Given the description of an element on the screen output the (x, y) to click on. 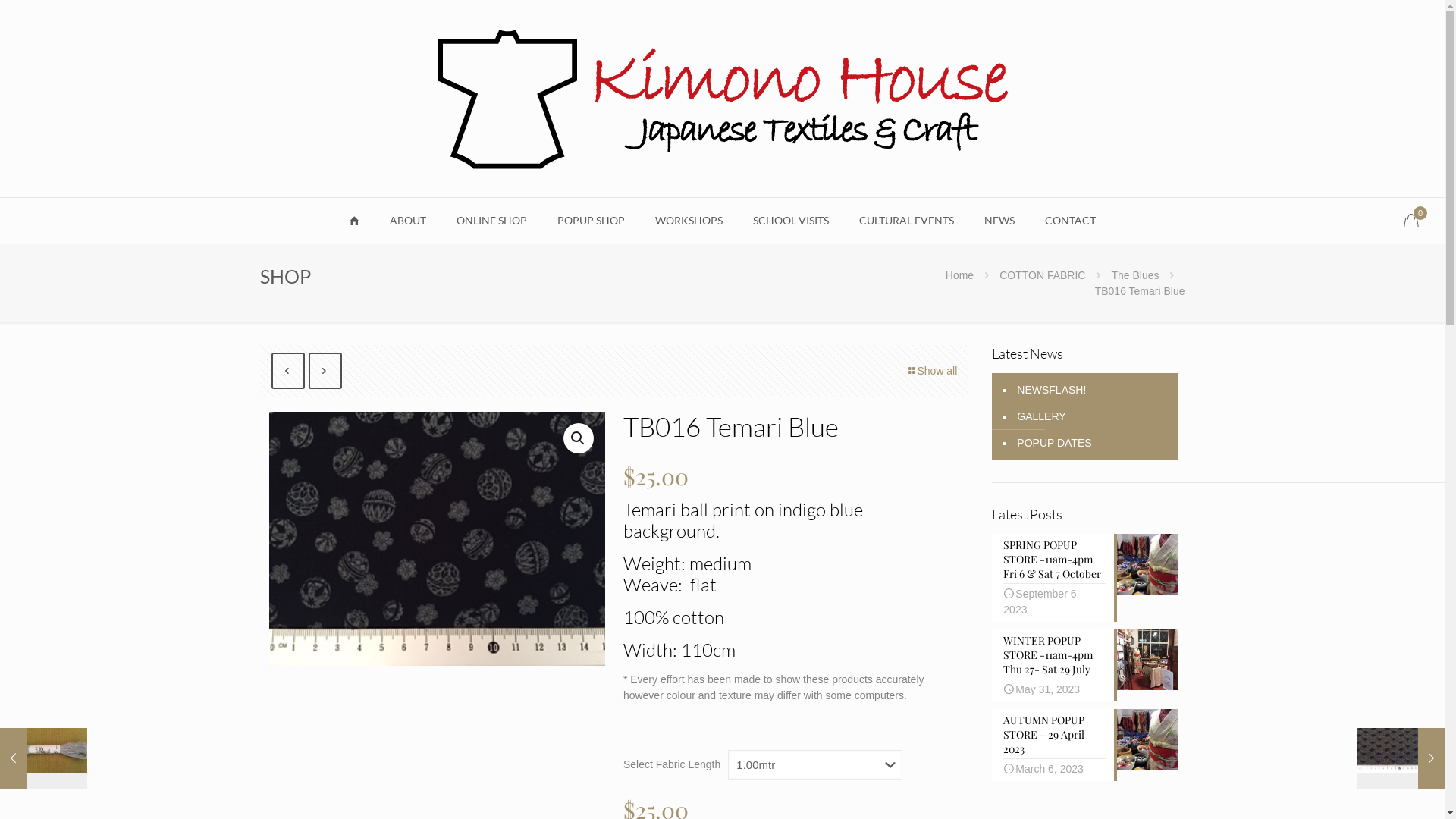
NEWS Element type: text (999, 220)
CULTURAL EVENTS Element type: text (906, 220)
SCHOOL VISITS Element type: text (790, 220)
Show all Element type: text (931, 370)
Home Element type: text (959, 275)
POPUP DATES Element type: text (1052, 442)
ONLINE SHOP Element type: text (491, 220)
WORKSHOPS Element type: text (688, 220)
NEWSFLASH! Element type: text (1049, 389)
COTTON FABRIC Element type: text (1042, 275)
The Blues Element type: text (1134, 275)
The Blues Temari Element type: hover (436, 538)
CONTACT Element type: text (1069, 220)
Kimono House Japanese Textiles & Craft Element type: hover (721, 98)
ABOUT Element type: text (407, 220)
GALLERY Element type: text (1039, 416)
0 Element type: text (1416, 220)
POPUP SHOP Element type: text (591, 220)
